Given the description of an element on the screen output the (x, y) to click on. 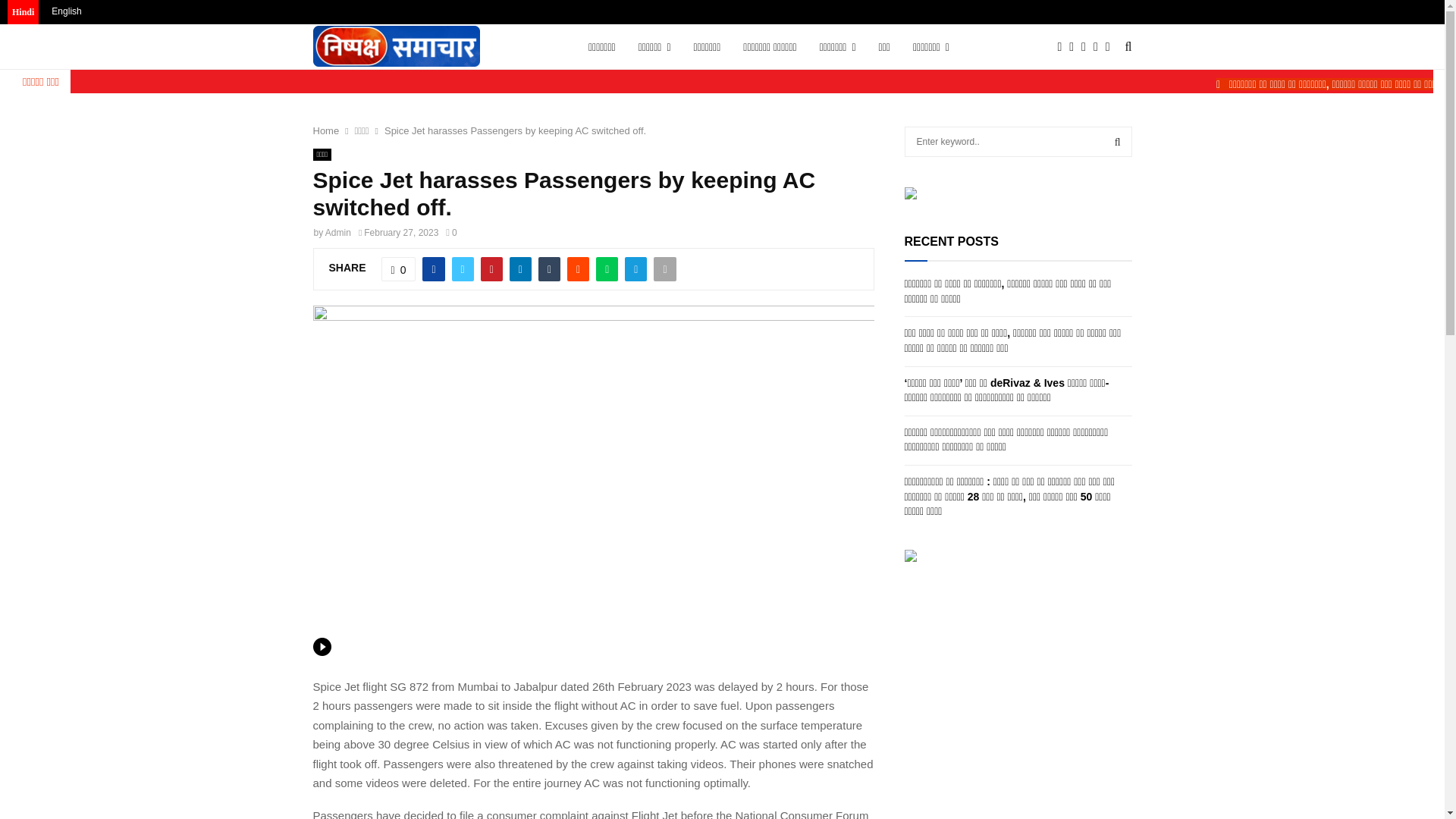
English (65, 11)
Hindi (23, 12)
